Given the description of an element on the screen output the (x, y) to click on. 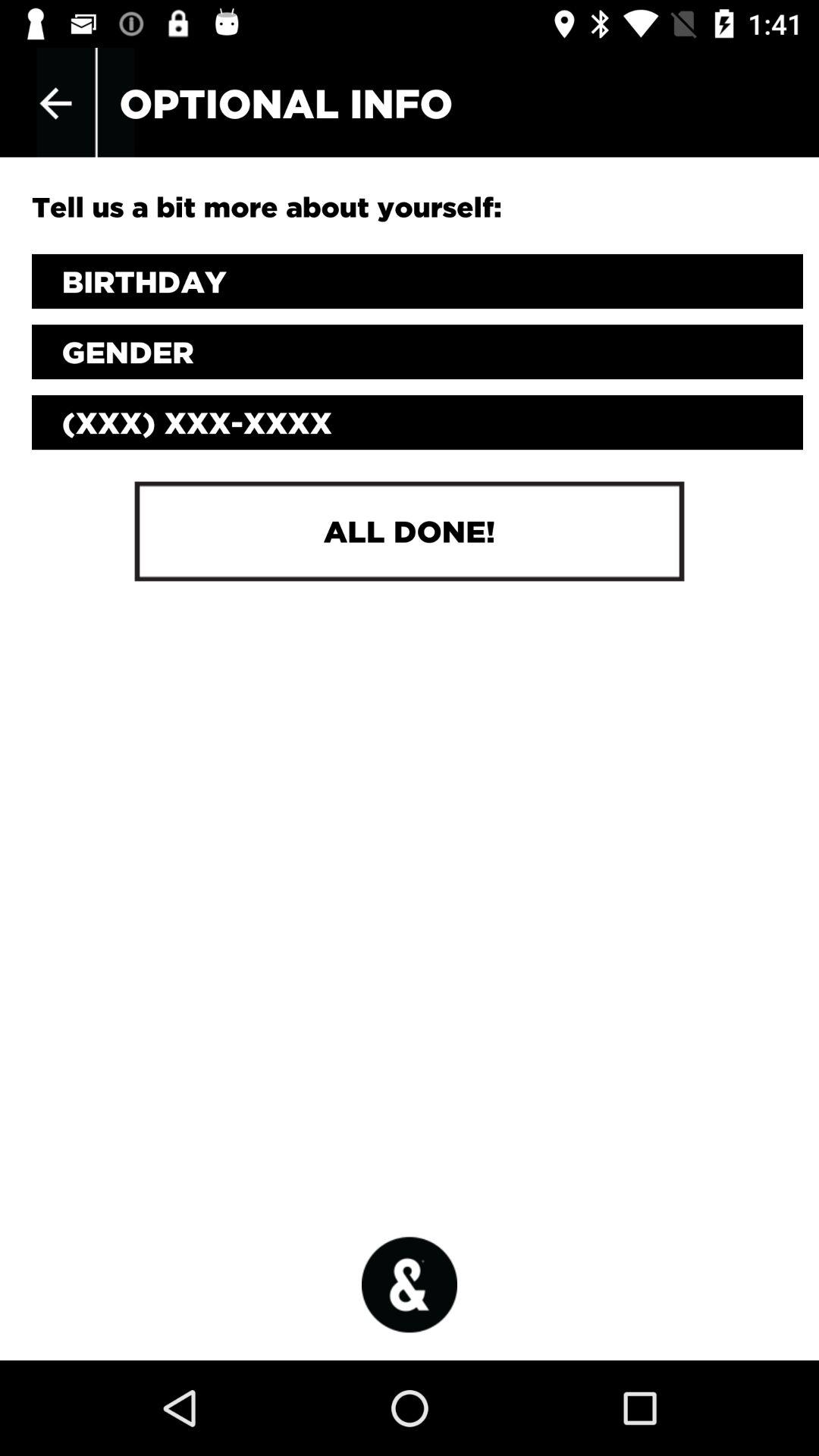
tap item at the center (409, 531)
